Given the description of an element on the screen output the (x, y) to click on. 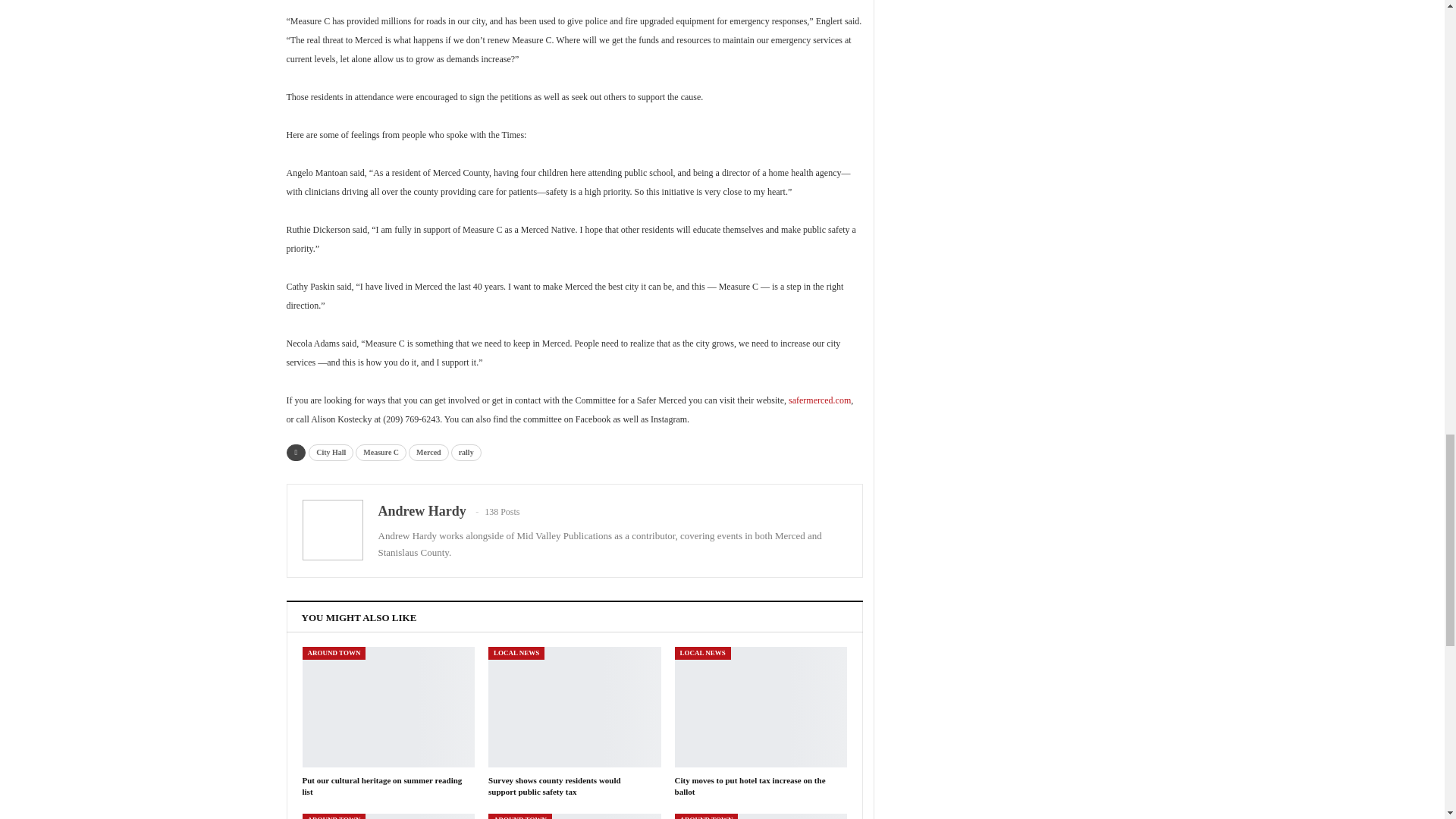
City moves to put hotel tax increase on the ballot (761, 707)
Courthouse Museum pays tribute to McCorrys, Cunninghams (387, 816)
Put our cultural heritage on summer reading list (381, 785)
Local artists draw on concepts  to beautify McNamara Park (574, 816)
Juneteenth event makes a splash at Applegate park (761, 816)
Put our cultural heritage on summer reading list (387, 707)
City moves to put hotel tax increase on the ballot (750, 785)
